Given the description of an element on the screen output the (x, y) to click on. 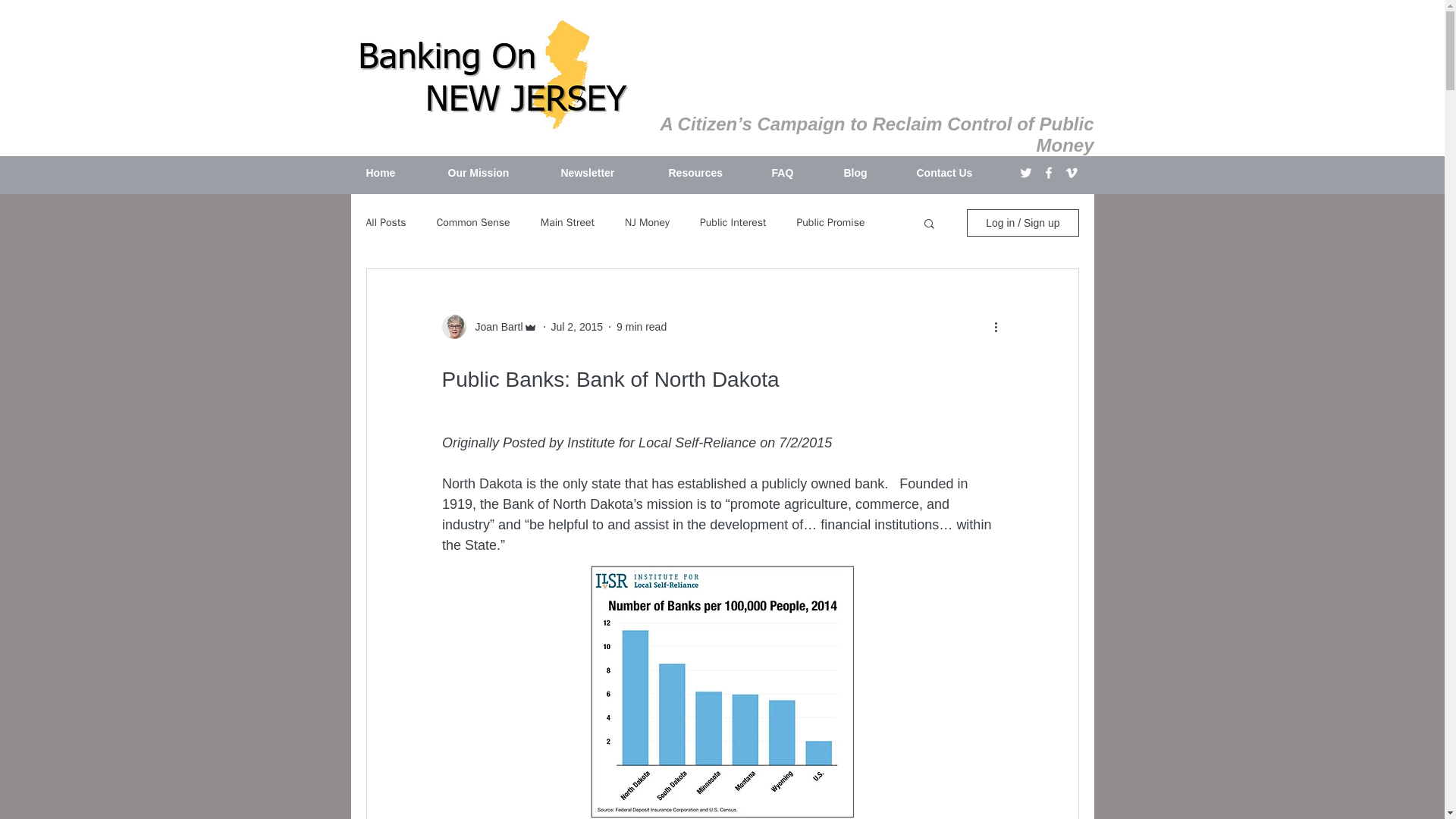
Contact Us (958, 172)
Public Interest (733, 223)
Common Sense (473, 223)
Our Mission (493, 172)
Public Promise (830, 223)
Resources (708, 172)
Blog (868, 172)
Jul 2, 2015 (577, 326)
FAQ (795, 172)
9 min read (640, 326)
